Given the description of an element on the screen output the (x, y) to click on. 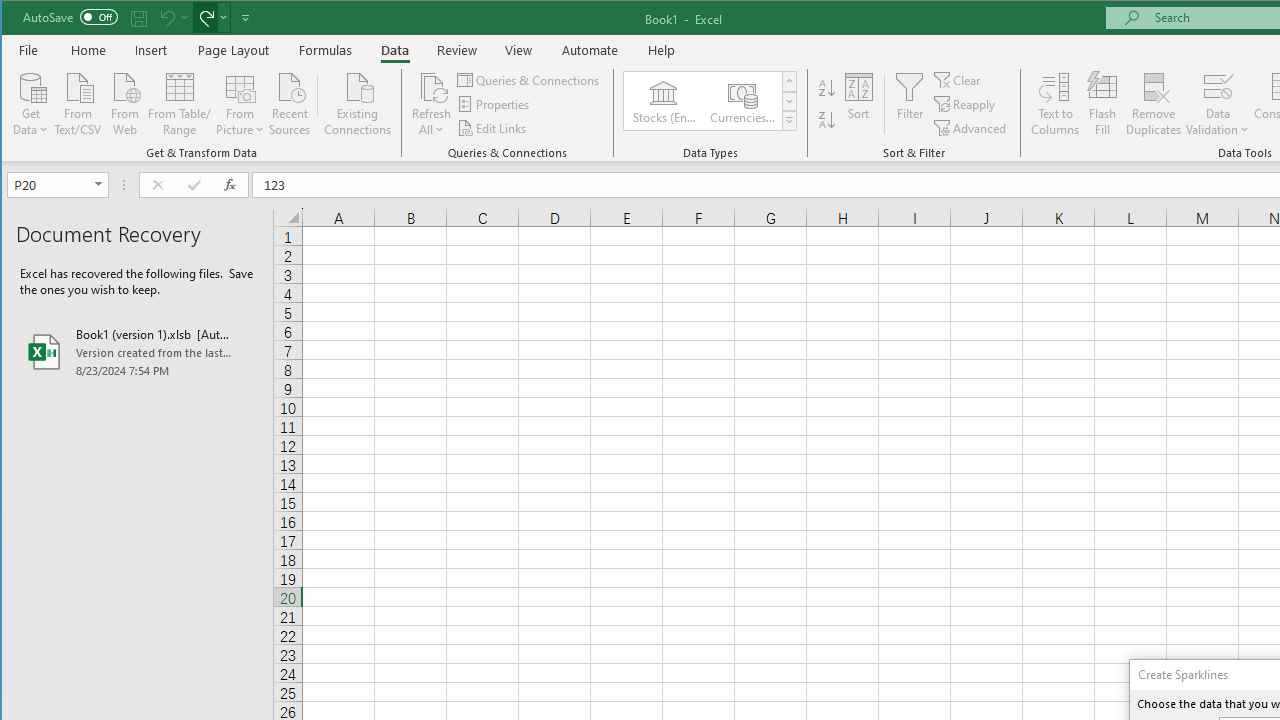
From Picture (240, 101)
Advanced... (971, 127)
From Text/CSV (77, 101)
Row Down (789, 101)
